Given the description of an element on the screen output the (x, y) to click on. 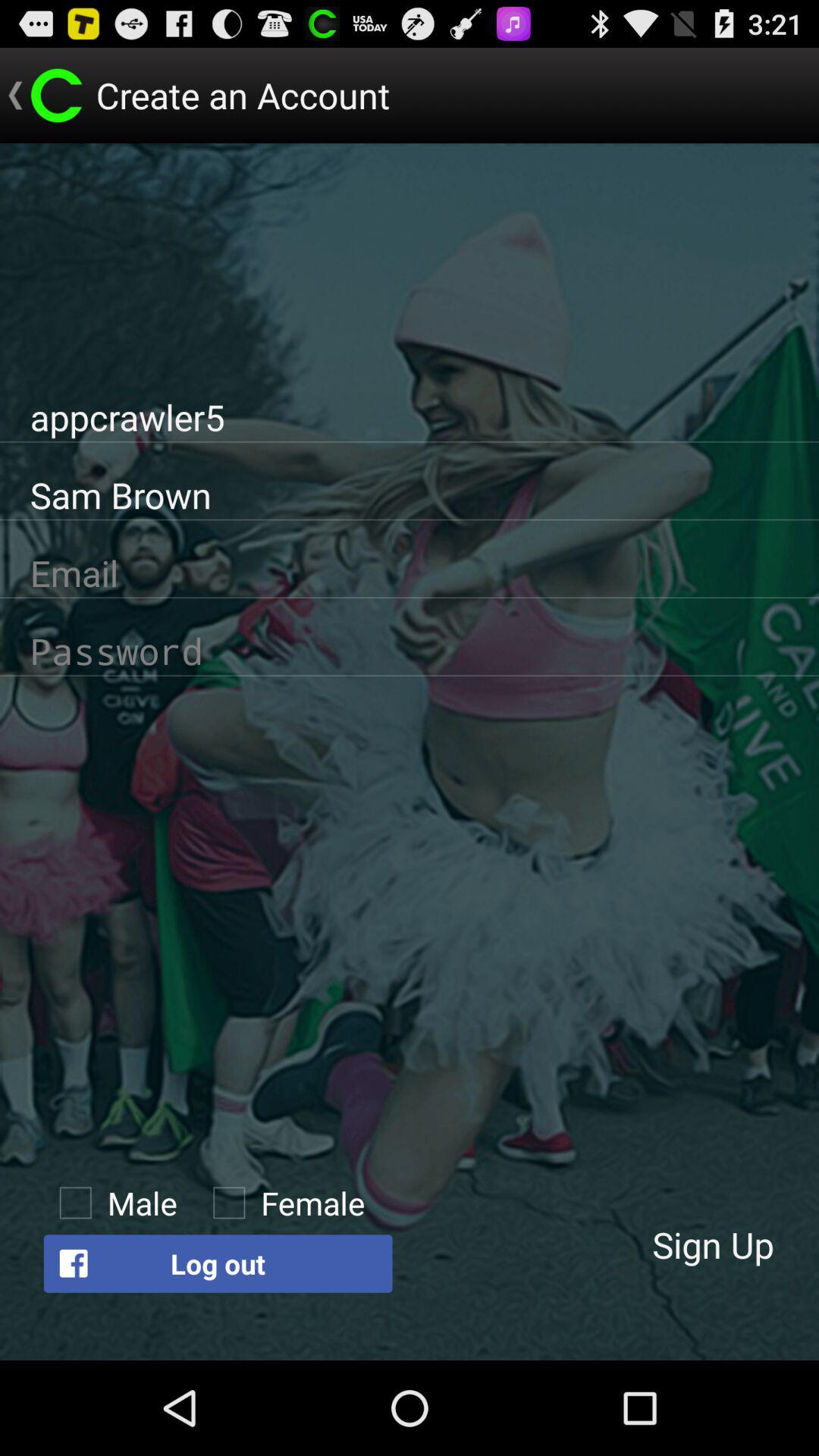
toggle to create password (409, 651)
